Given the description of an element on the screen output the (x, y) to click on. 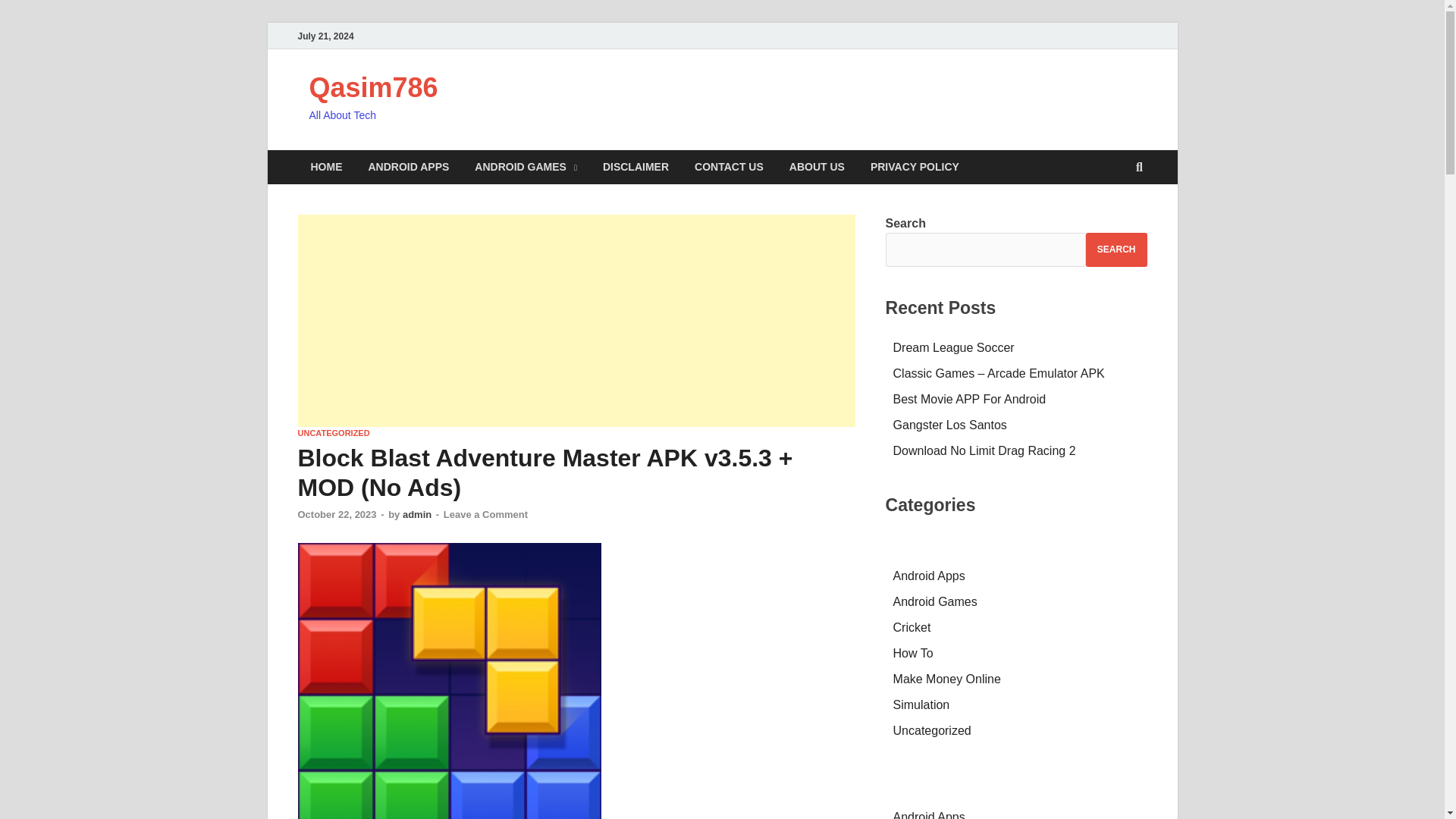
Qasim786 (373, 87)
DISCLAIMER (635, 166)
ANDROID APPS (408, 166)
HOME (326, 166)
Leave a Comment (485, 514)
UNCATEGORIZED (333, 432)
October 22, 2023 (336, 514)
CONTACT US (728, 166)
ANDROID GAMES (525, 166)
SEARCH (1116, 249)
admin (416, 514)
PRIVACY POLICY (914, 166)
Advertisement (575, 320)
ABOUT US (816, 166)
Dream League Soccer (953, 347)
